Given the description of an element on the screen output the (x, y) to click on. 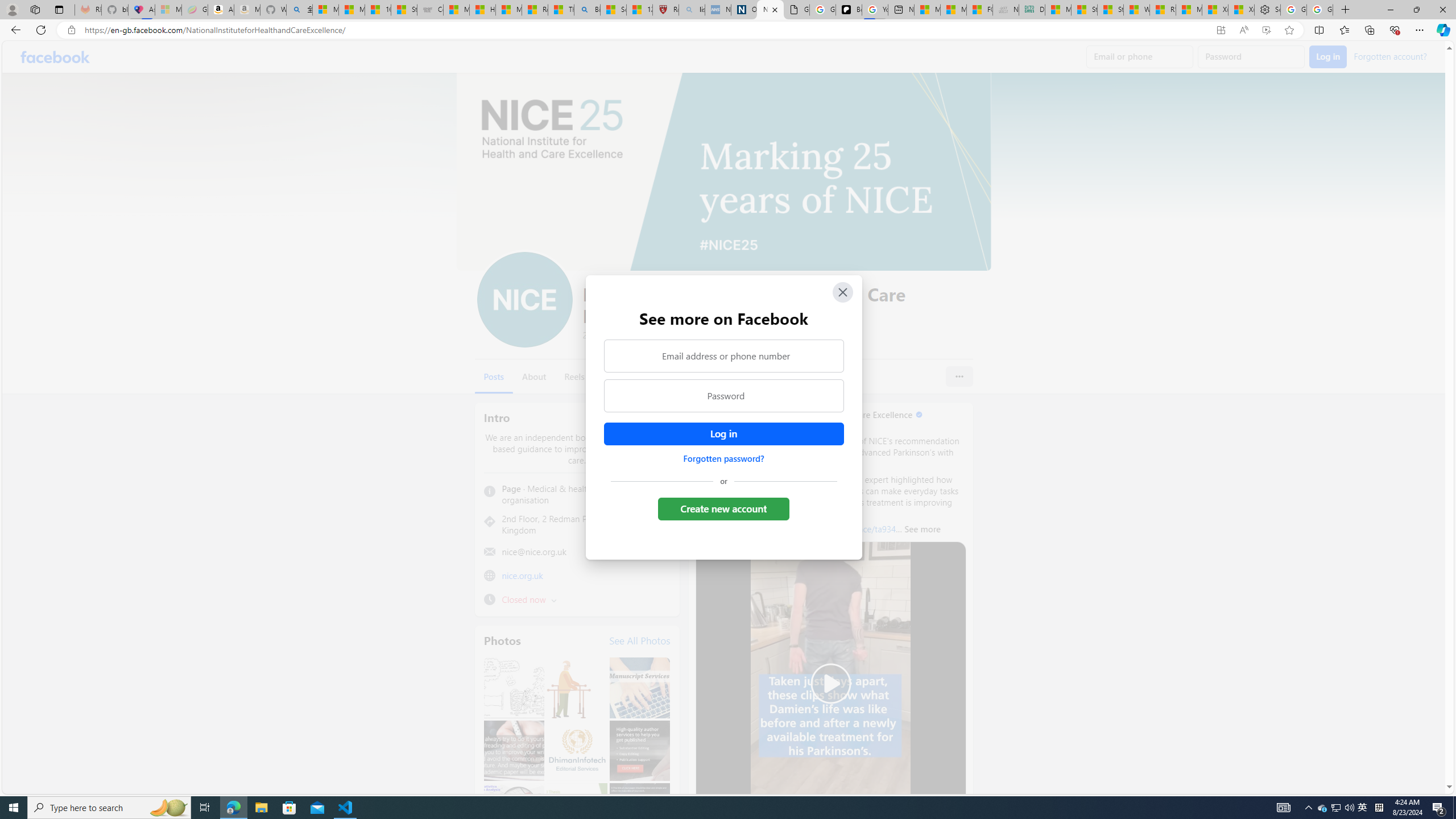
Facebook (55, 56)
FOX News - MSN (979, 9)
